Given the description of an element on the screen output the (x, y) to click on. 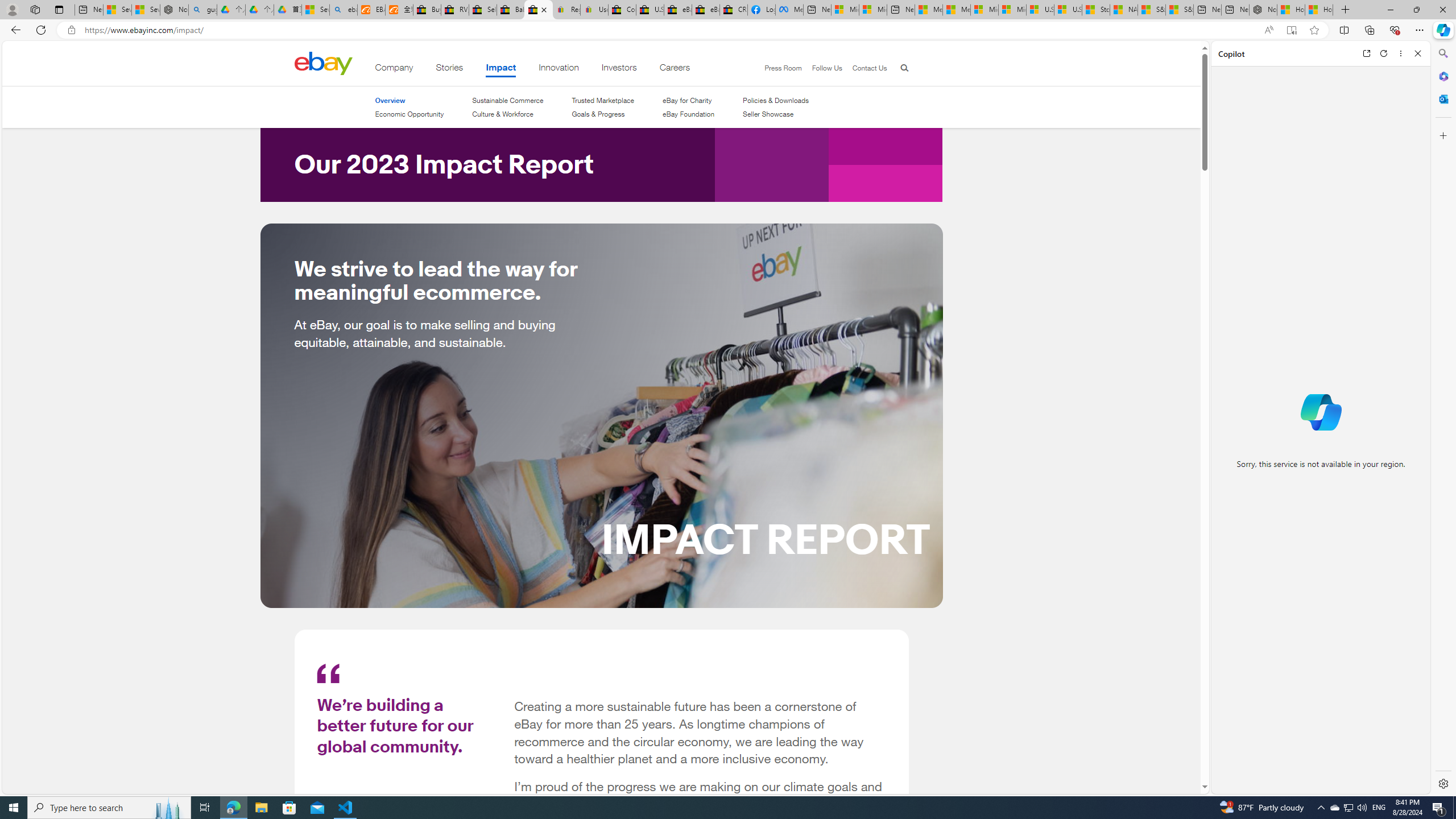
Contact Us (868, 67)
Press Room (778, 68)
Stories (449, 69)
Personal Profile (12, 9)
guge yunpan - Search (202, 9)
Settings and more (Alt+F) (1419, 29)
Stories (449, 69)
How to Use a Monitor With Your Closed Laptop (1319, 9)
Enter Immersive Reader (F9) (1291, 29)
Sustainable Commerce (507, 100)
Trusted Marketplace (603, 99)
Collections (1369, 29)
Meta Store (789, 9)
Close tab (543, 9)
